Given the description of an element on the screen output the (x, y) to click on. 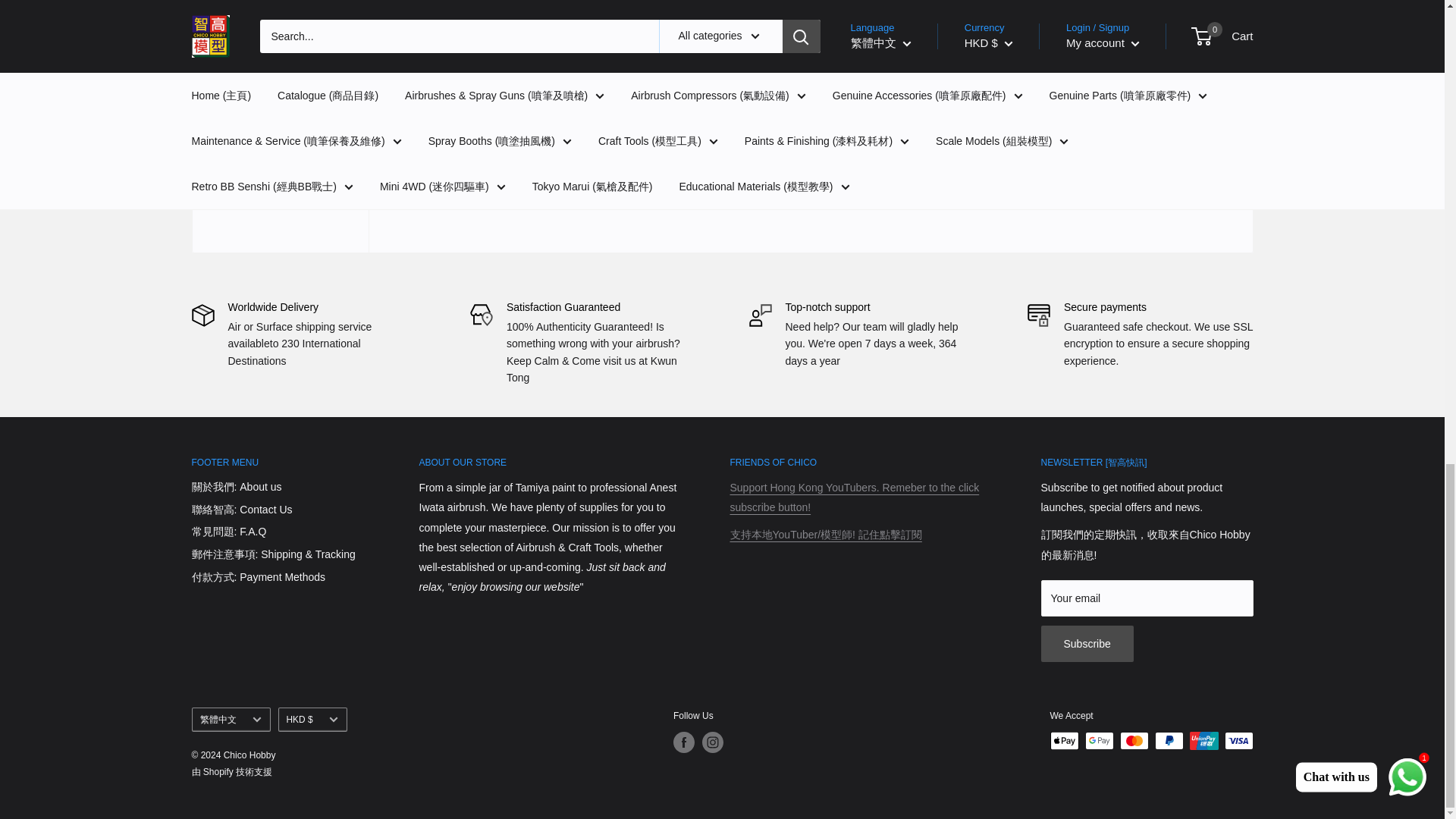
Friends of Chico (825, 534)
